Given the description of an element on the screen output the (x, y) to click on. 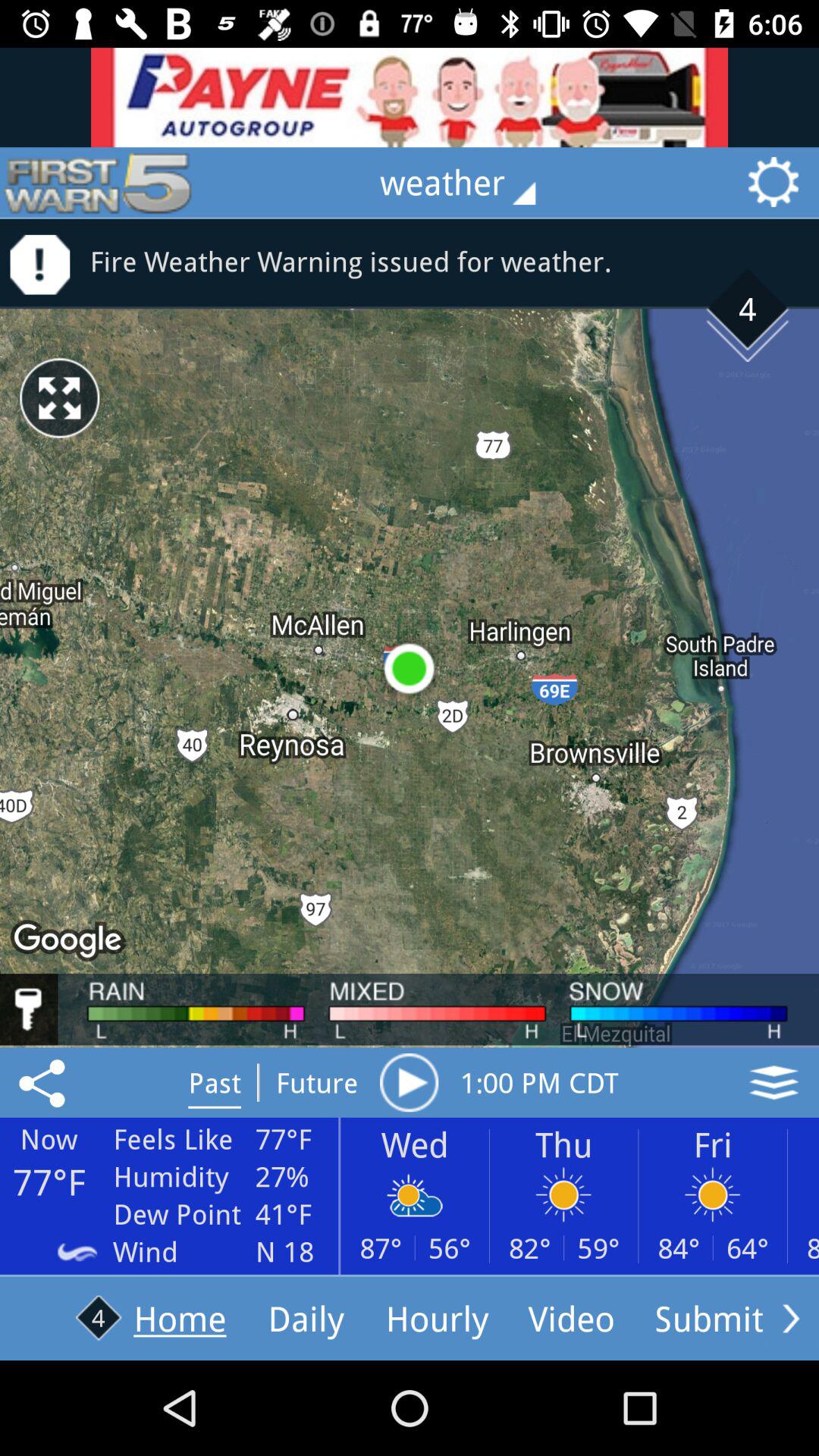
play button (409, 1082)
